Given the description of an element on the screen output the (x, y) to click on. 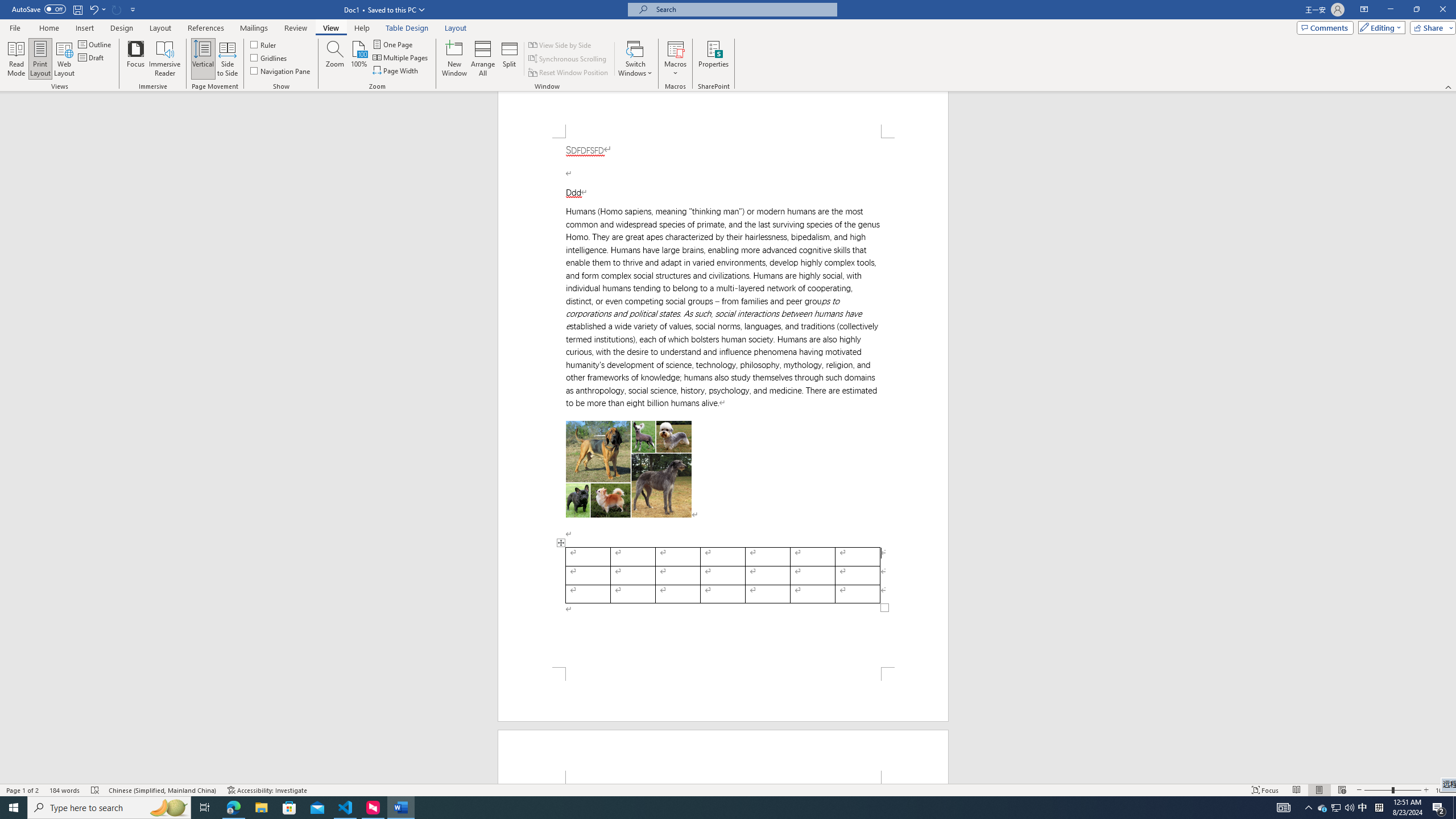
Switch Windows (635, 58)
Zoom... (334, 58)
One Page (393, 44)
Split (509, 58)
Word Count 184 words (64, 790)
